Given the description of an element on the screen output the (x, y) to click on. 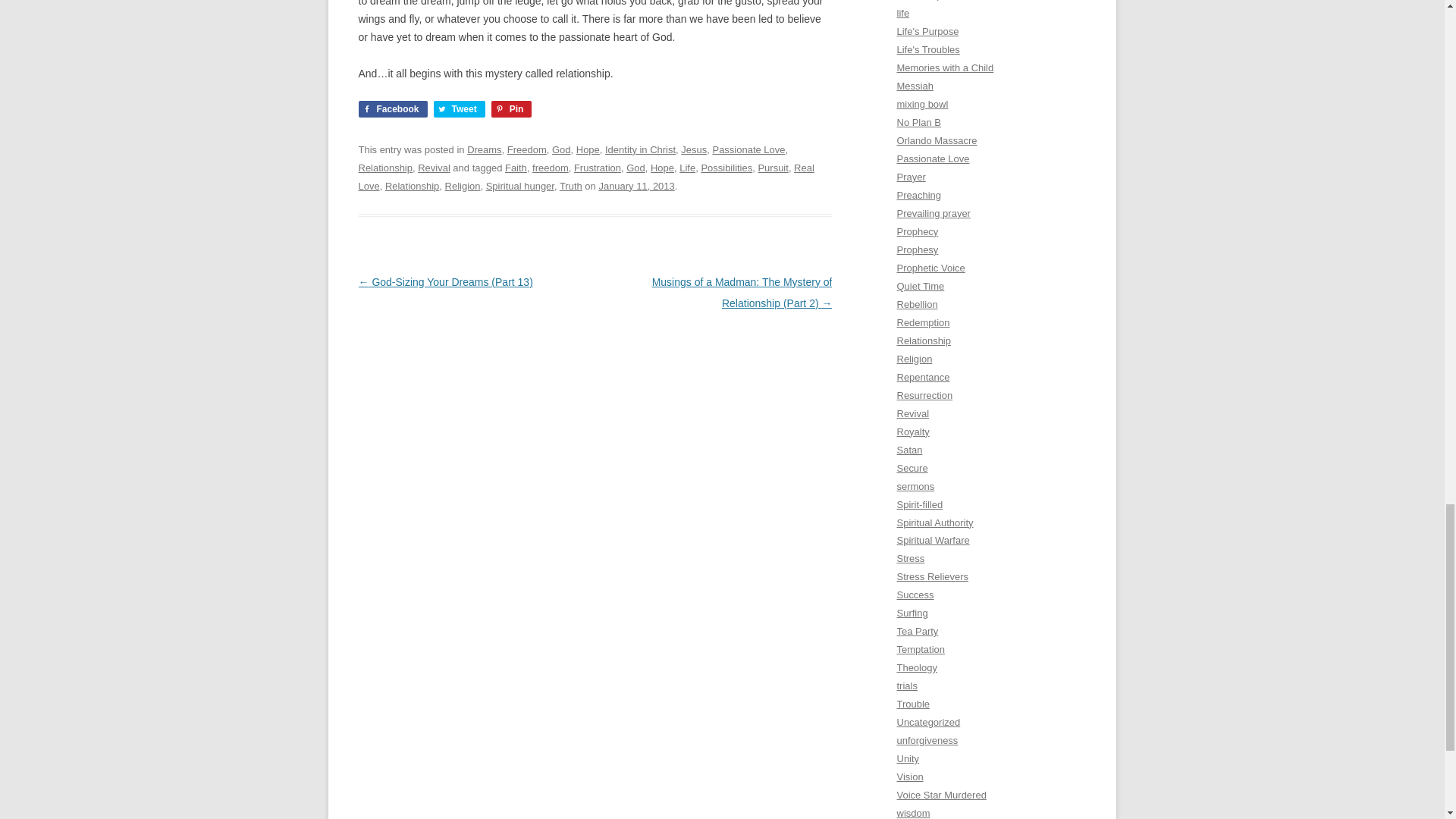
Share on Pinterest (512, 108)
January 11, 2013 (636, 185)
Revival (433, 167)
Relationship (412, 185)
Spiritual hunger (520, 185)
Tweet (458, 108)
Hope (587, 149)
Share on Twitter (458, 108)
Frustration (597, 167)
Life (687, 167)
Freedom (526, 149)
Share on Facebook (392, 108)
Passionate Love (747, 149)
Hope (662, 167)
Possibilities (726, 167)
